Given the description of an element on the screen output the (x, y) to click on. 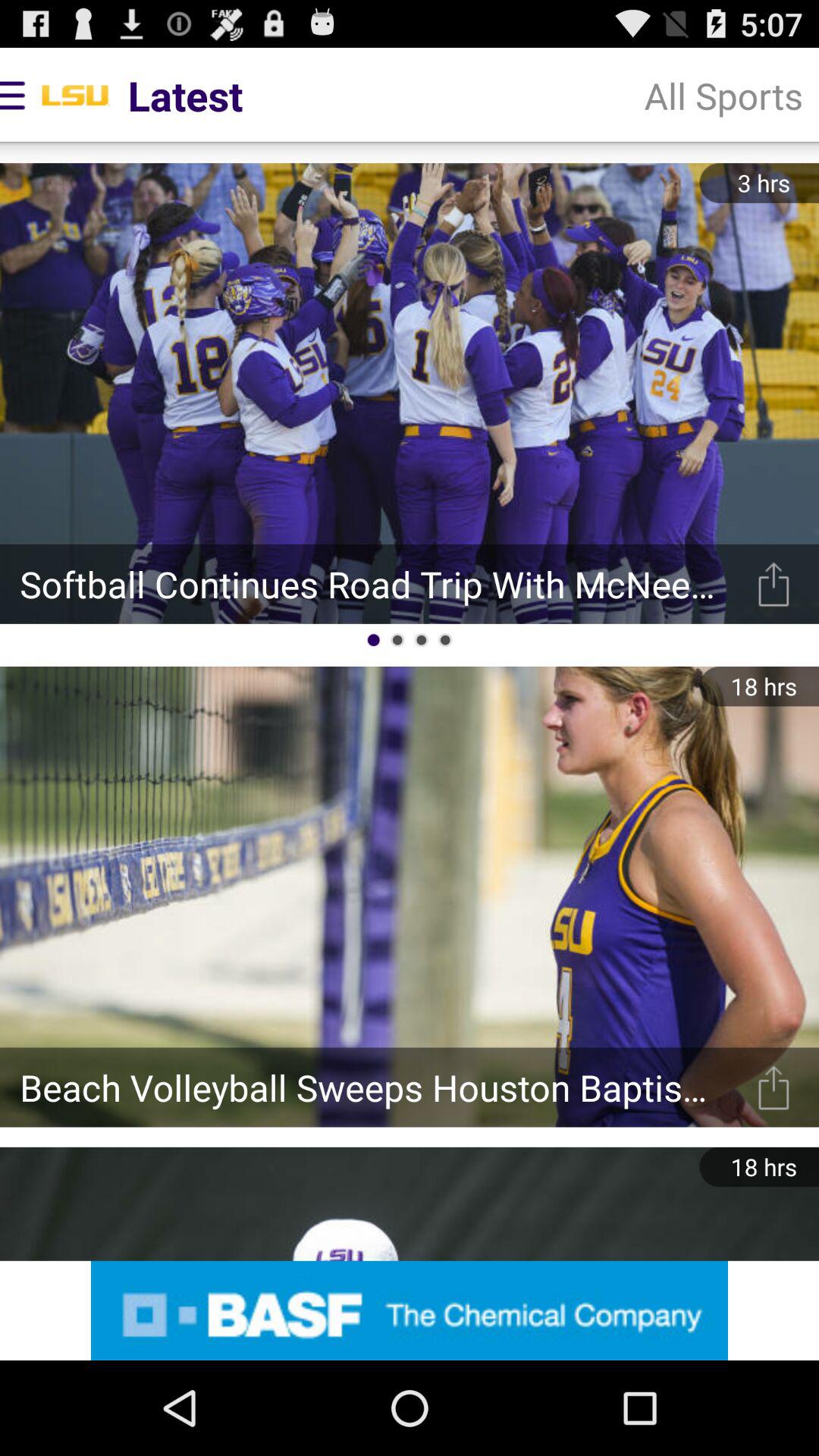
tap the item to the right of latest app (723, 95)
